Given the description of an element on the screen output the (x, y) to click on. 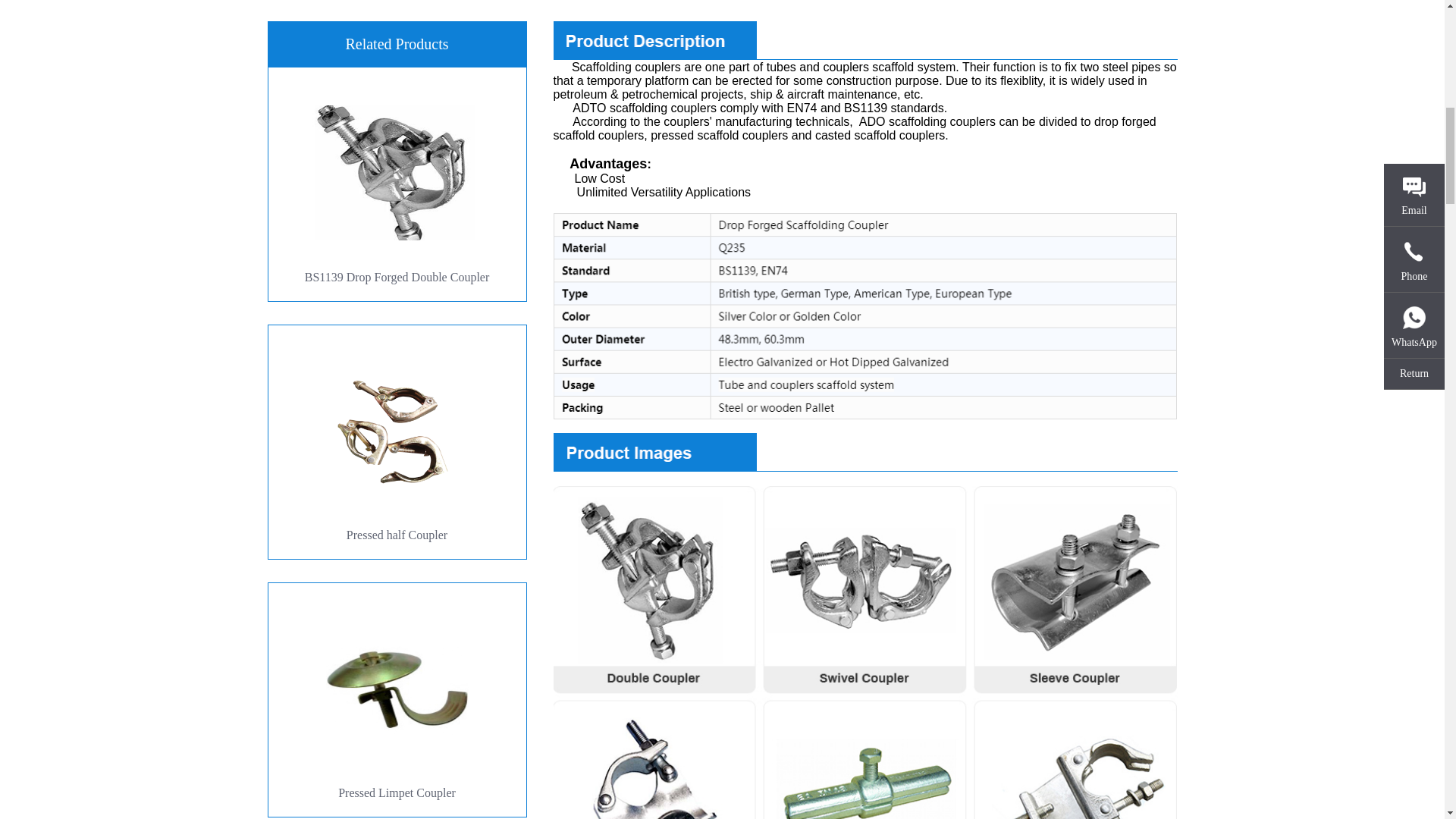
0 (136, 441)
product description.png (865, 40)
0 (136, 699)
product image.png (865, 451)
Pressed Limpet Coupler (395, 699)
BS1139 Drop Forged Double Coupler (395, 184)
0 (136, 184)
Pressed half Coupler (395, 441)
